Given the description of an element on the screen output the (x, y) to click on. 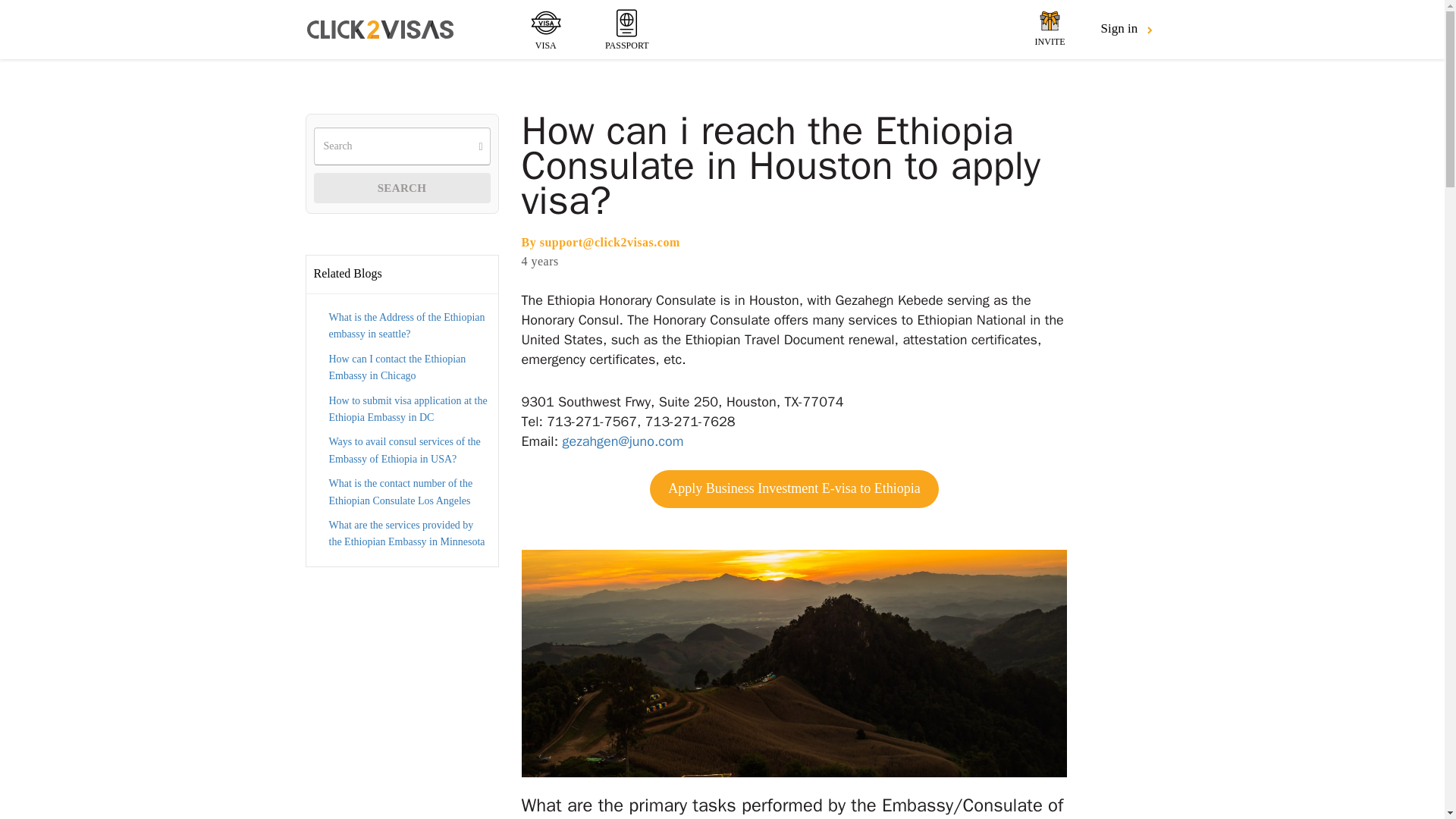
INVITE (1050, 29)
Sign in (1127, 28)
How to submit visa application at the Ethiopia Embassy in DC (408, 408)
What is the Address of the Ethiopian embassy in seattle? (406, 325)
How can I contact the Ethiopian Embassy in Chicago (397, 366)
SEARCH (402, 187)
VISA (545, 29)
Apply Business Investment E-visa to Ethiopia (793, 488)
